Given the description of an element on the screen output the (x, y) to click on. 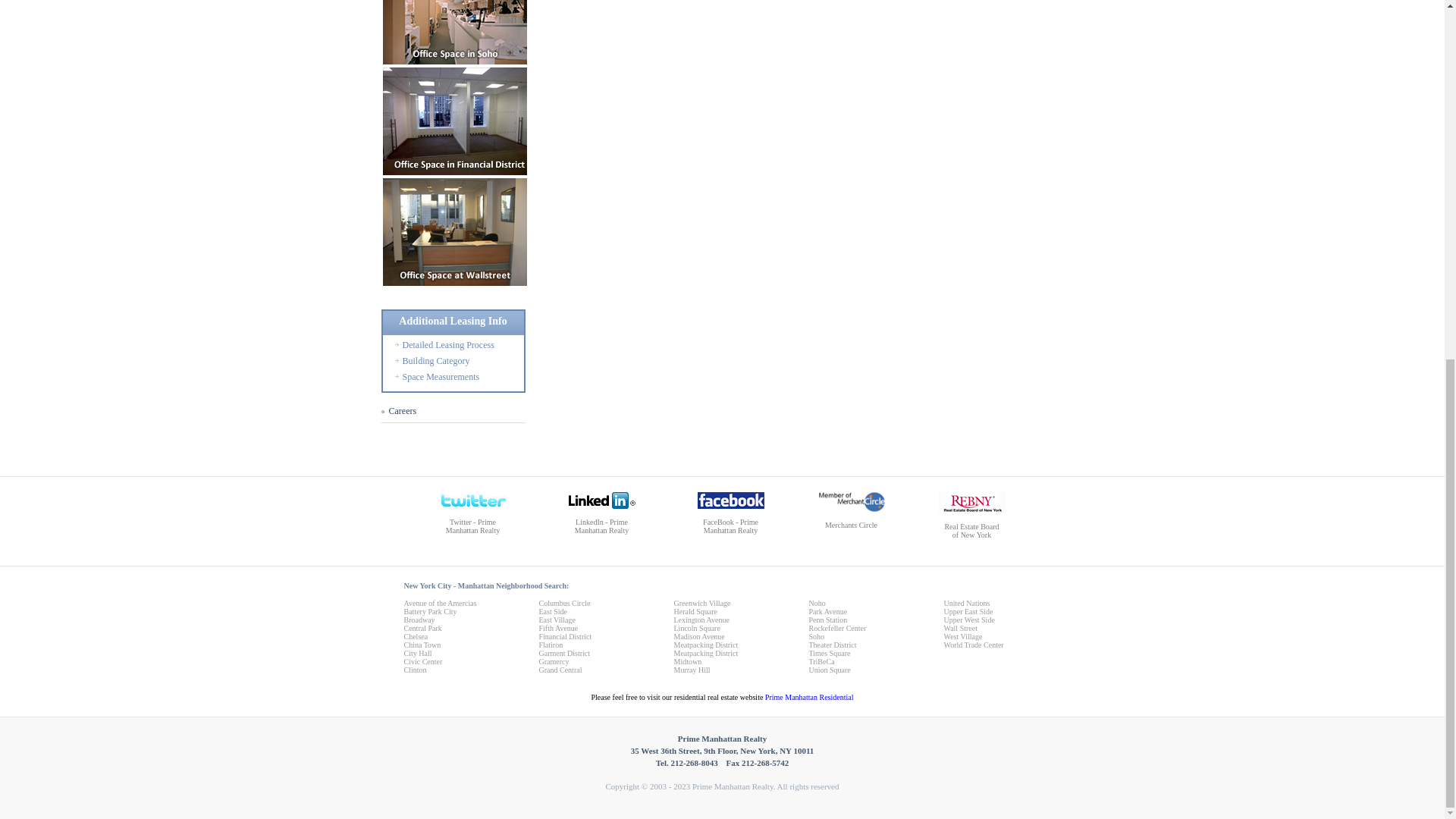
Clinton (414, 669)
Space Measurements (440, 376)
Broadway (418, 619)
Careers (402, 410)
Battery Park City (430, 611)
East Village (556, 619)
Civic Center (422, 661)
Building Category (434, 360)
East Side (552, 611)
Flatiron (550, 644)
